Given the description of an element on the screen output the (x, y) to click on. 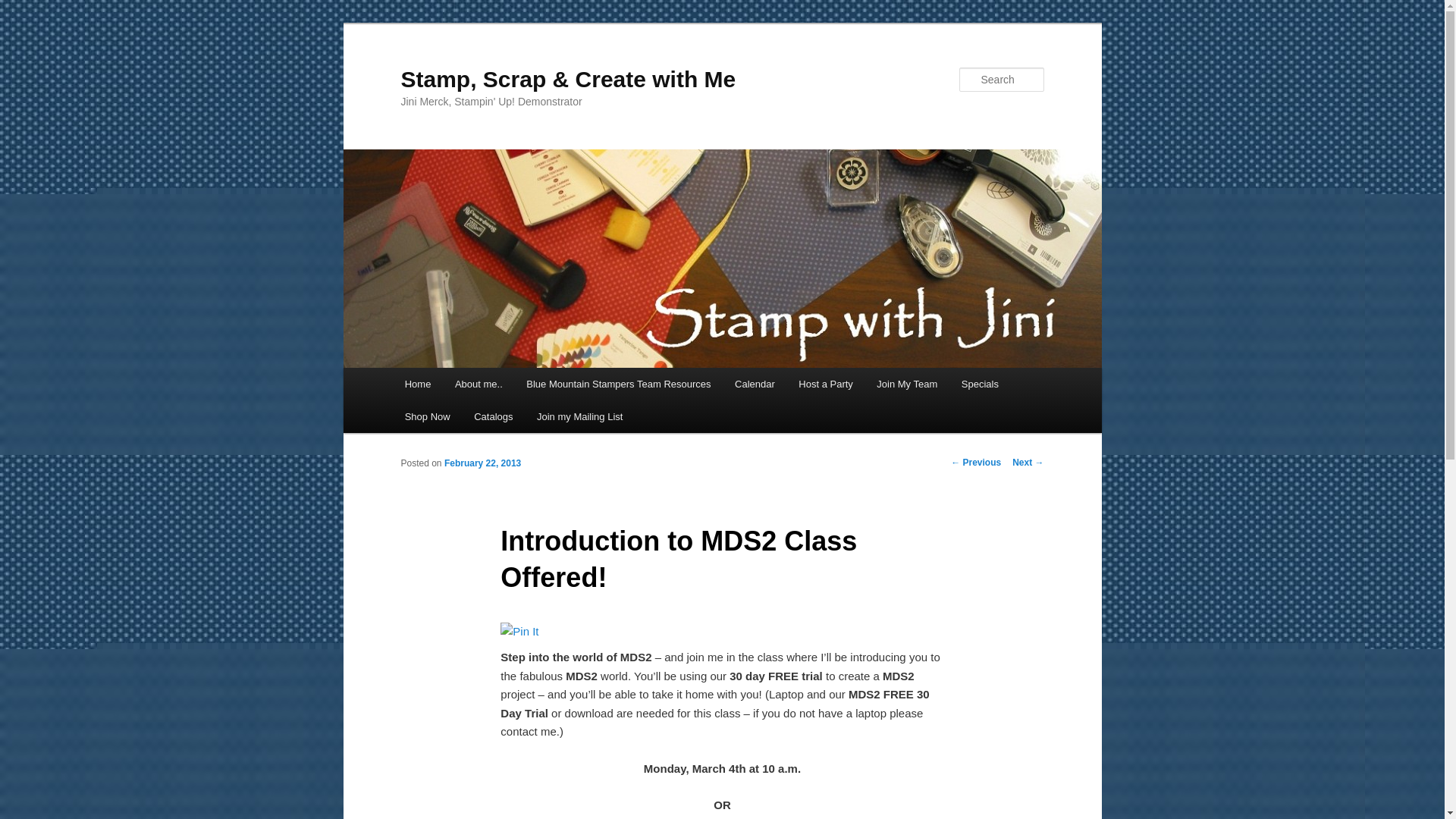
About me.. (477, 383)
February 22, 2013 (482, 462)
Join my Mailing List (579, 416)
5:31 pm (482, 462)
Blue Mountain Stampers Team Resources (617, 383)
Host a Party (825, 383)
Shop Now (427, 416)
Specials (979, 383)
Pin It (519, 631)
